Given the description of an element on the screen output the (x, y) to click on. 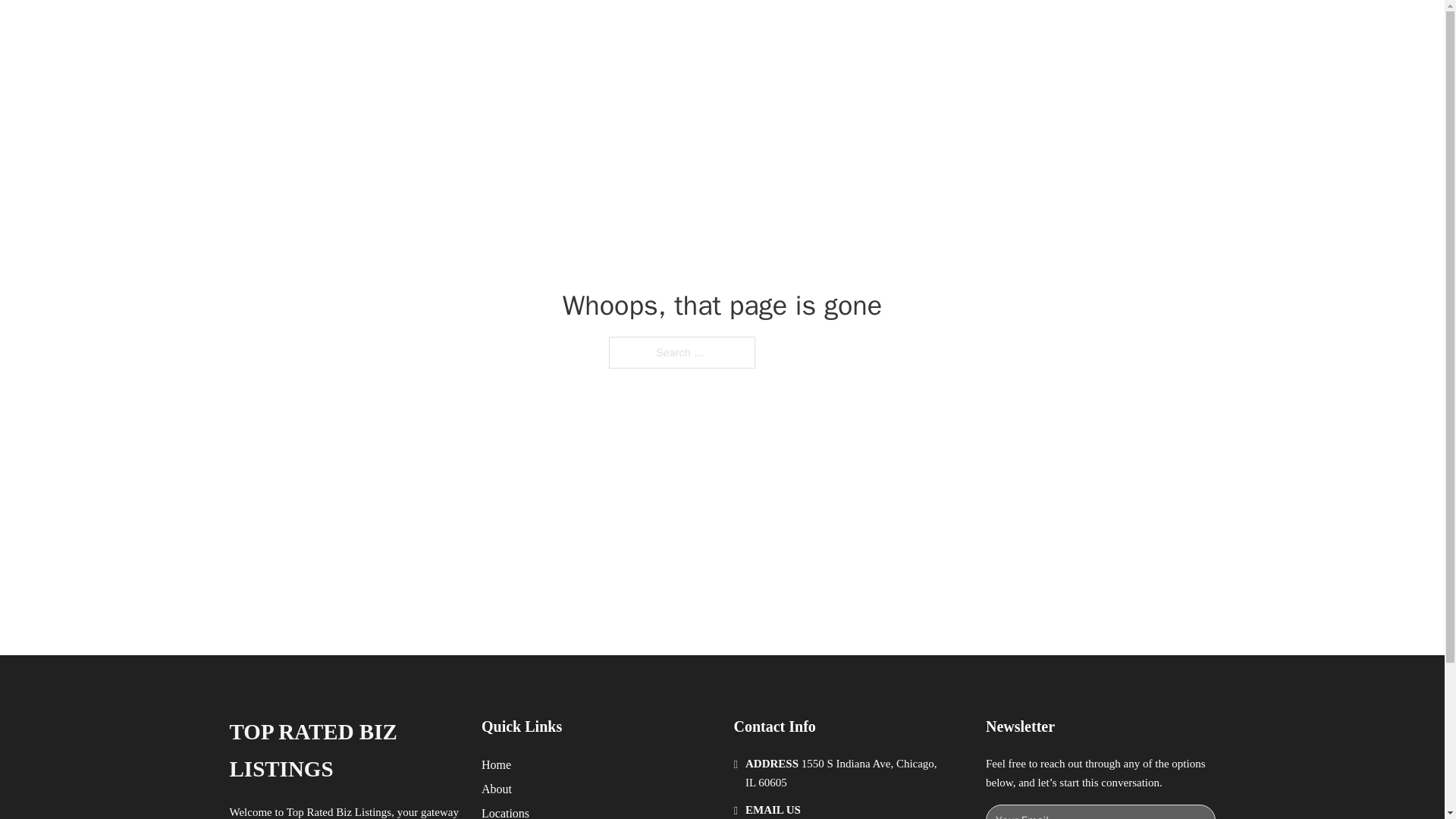
LOCATIONS (990, 29)
Home (496, 764)
Locations (505, 811)
About (496, 788)
TOP RATED BIZ LISTINGS (432, 28)
HOME (919, 29)
TOP RATED BIZ LISTINGS (343, 750)
